Given the description of an element on the screen output the (x, y) to click on. 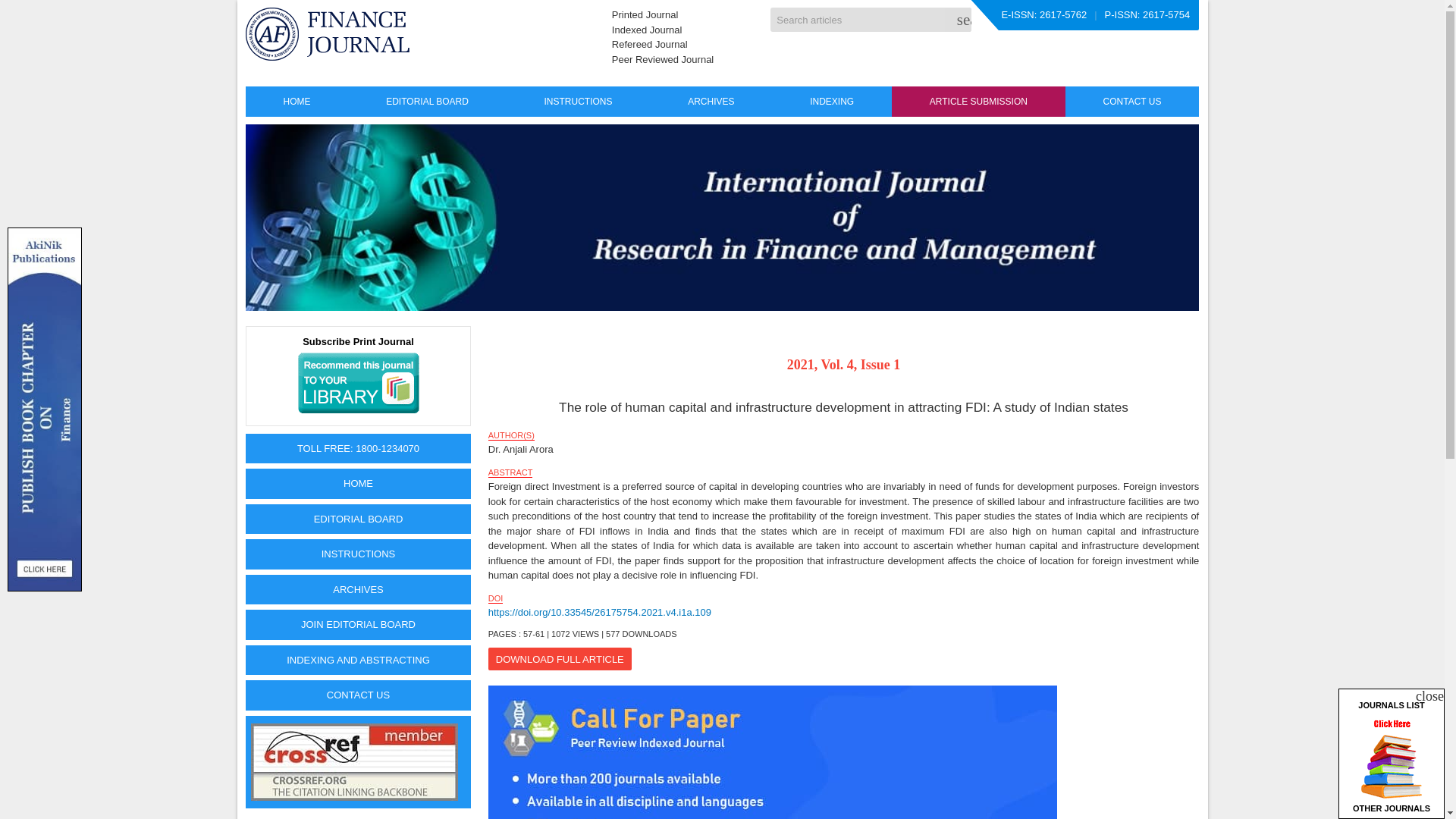
search (957, 19)
International Journal of Research in Finance and Management (327, 33)
INDEXING (831, 101)
INSTRUCTIONS (578, 101)
Subscribe Print Journal (358, 375)
HOME (297, 101)
Financial Management Journal CrossRef Indexing (354, 761)
ARCHIVES (358, 589)
TOLL FREE: 1800-1234070 (358, 449)
DOWNLOAD FULL ARTICLE (559, 658)
JOIN EDITORIAL BOARD (358, 624)
CONTACT US (1132, 101)
HOME (358, 483)
ARCHIVES (710, 101)
INDEXING AND ABSTRACTING (358, 660)
